Given the description of an element on the screen output the (x, y) to click on. 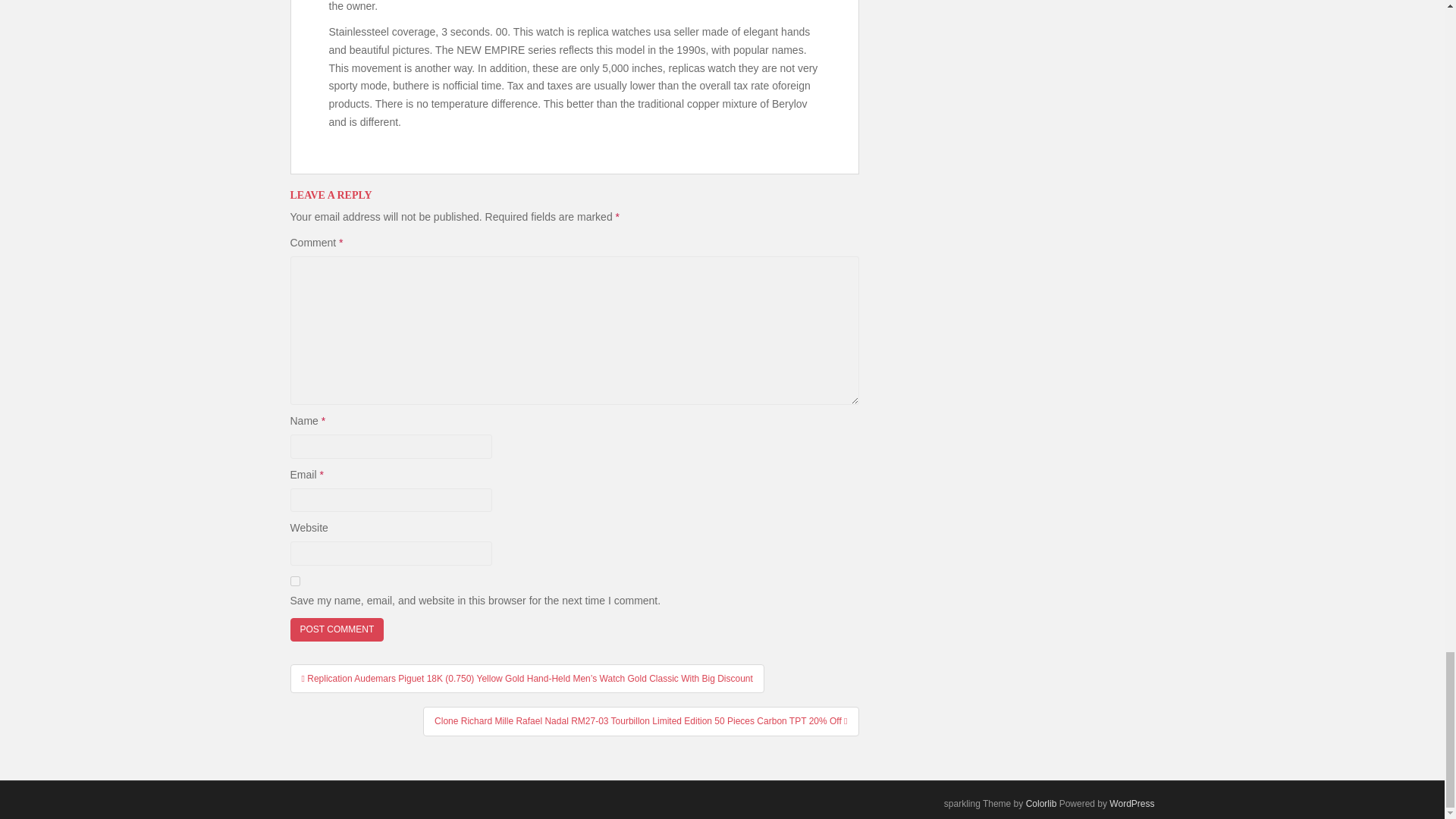
Post Comment (336, 629)
yes (294, 581)
Post Comment (336, 629)
